Given the description of an element on the screen output the (x, y) to click on. 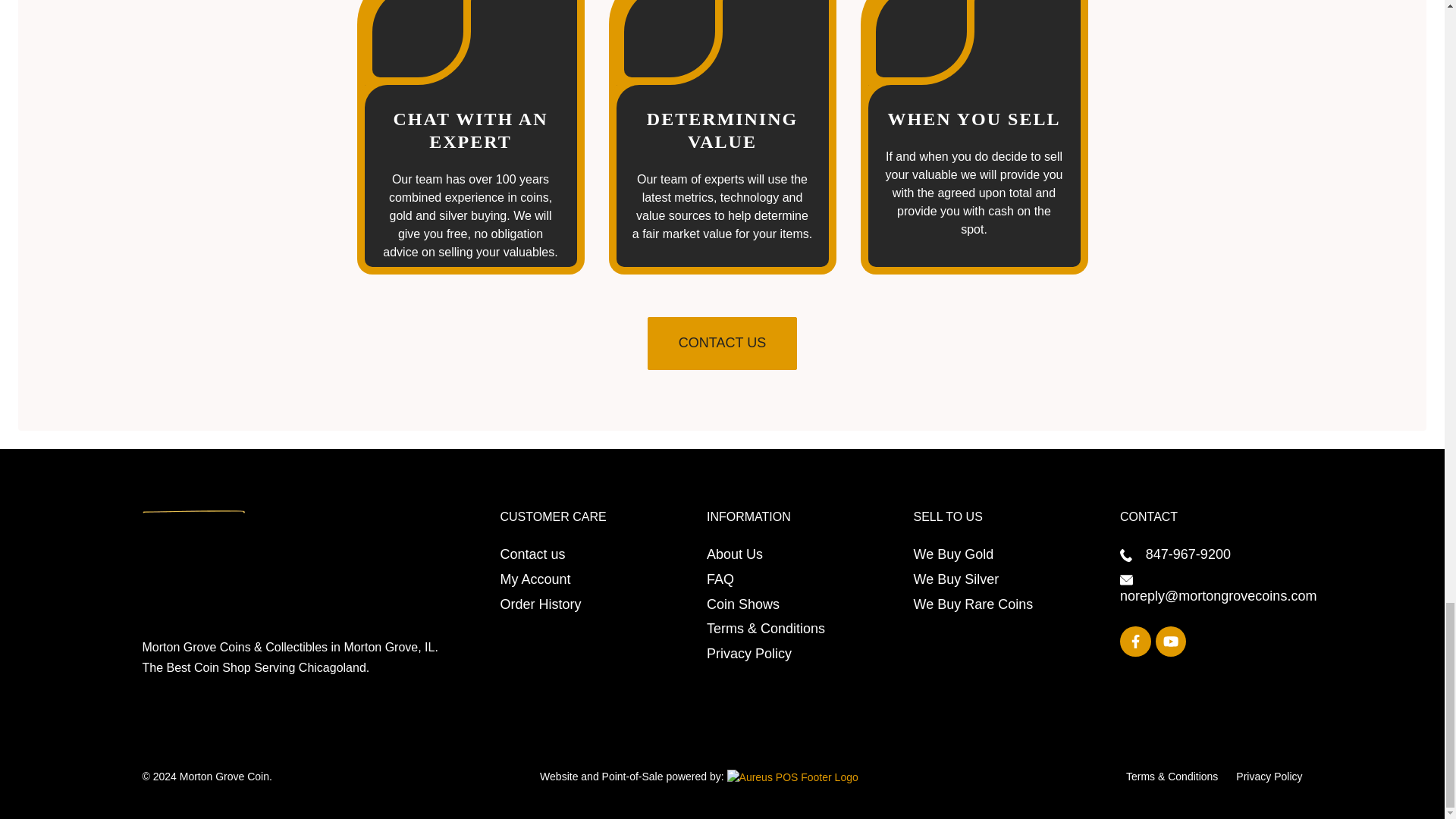
My Account (535, 579)
Order History (540, 604)
CONTACT US (721, 343)
Contact us (533, 554)
